Given the description of an element on the screen output the (x, y) to click on. 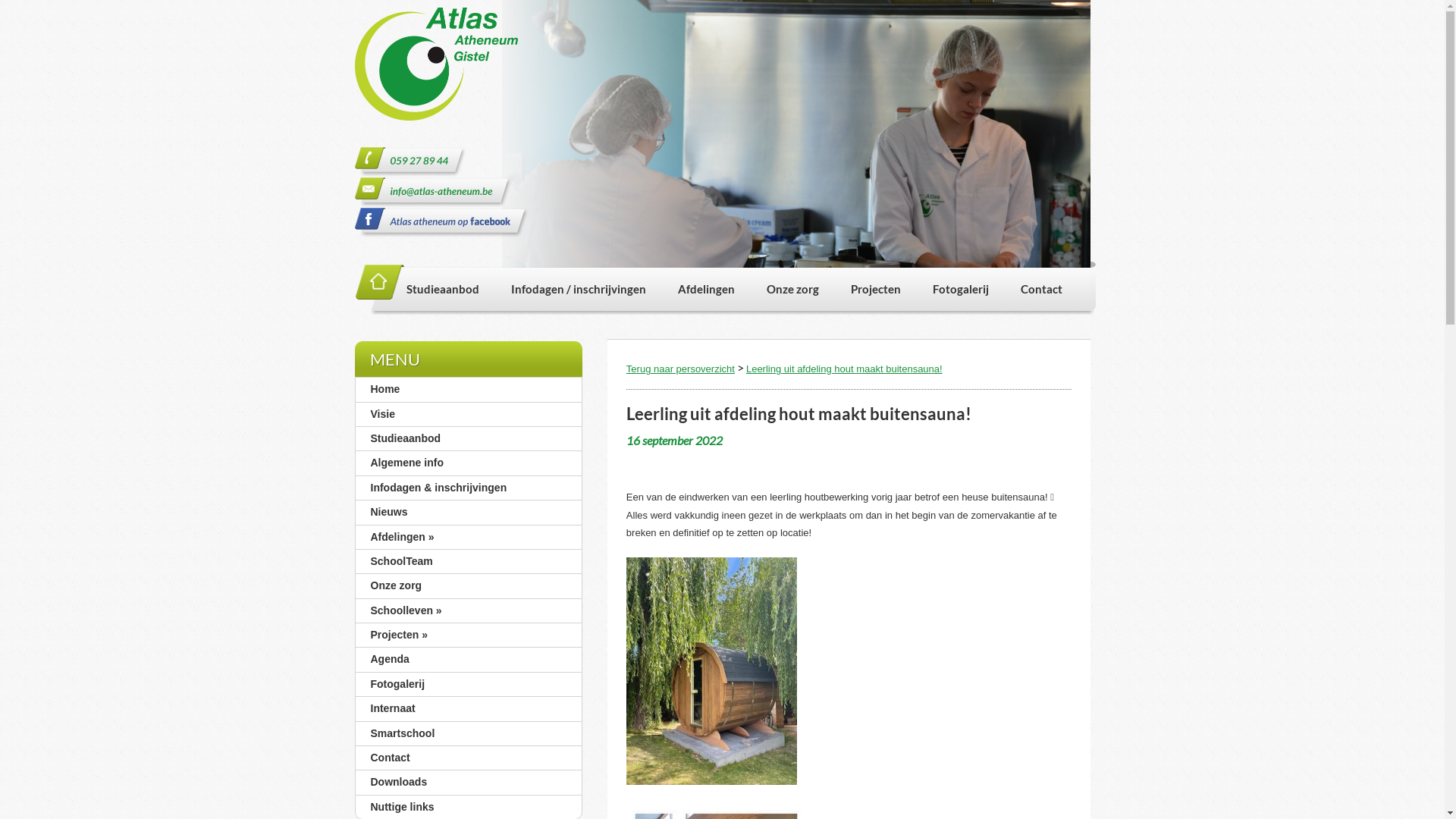
Projecten Element type: text (875, 288)
Home Element type: text (472, 389)
Infodagen & inschrijvingen Element type: text (472, 487)
Smartschool Element type: text (472, 733)
Atlas Atheneum Gistel Element type: hover (435, 71)
Terug naar persoverzicht Element type: text (680, 368)
Nieuws Element type: text (472, 512)
Visie Element type: text (472, 414)
Leerling uit afdeling hout maakt buitensauna! Element type: text (844, 368)
Home Element type: text (379, 281)
Contact Element type: text (472, 757)
Infodagen / inschrijvingen Element type: text (577, 288)
Studieaanbod Element type: text (472, 438)
Agenda Element type: text (472, 659)
Fotogalerij Element type: text (472, 684)
Contact Element type: text (1040, 288)
Onze zorg Element type: text (472, 585)
Afdelingen Element type: text (705, 288)
Fotogalerij Element type: text (960, 288)
Downloads Element type: text (472, 781)
Internaat Element type: text (472, 708)
Onze zorg Element type: text (792, 288)
SchoolTeam Element type: text (472, 561)
Studieaanbod Element type: text (449, 288)
Algemene info Element type: text (472, 462)
